Given the description of an element on the screen output the (x, y) to click on. 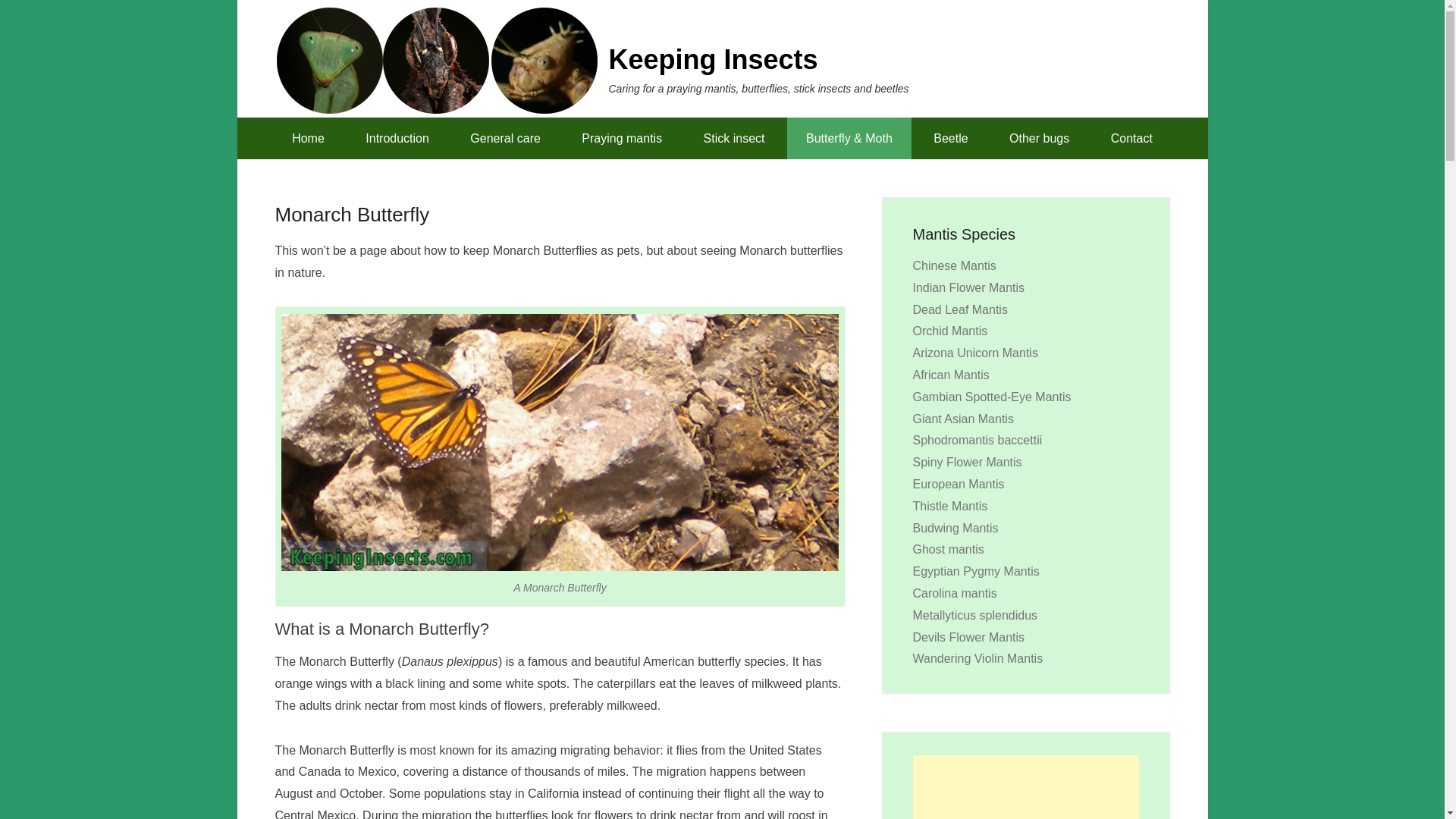
Advertisement (1025, 787)
Keeping Insects (712, 59)
Permalink to Monarch Butterfly (352, 214)
